Given the description of an element on the screen output the (x, y) to click on. 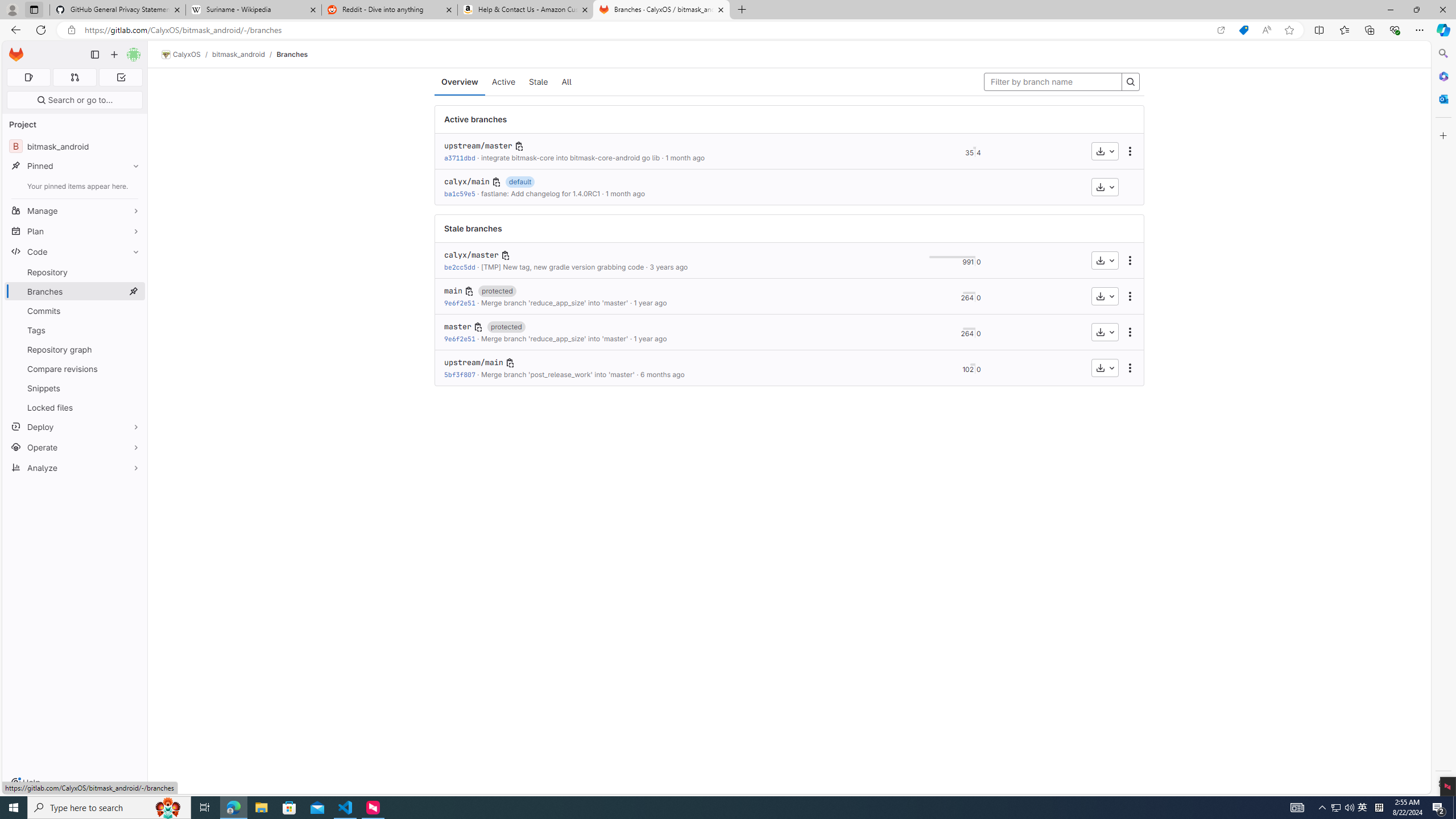
Merge branch 'reduce_app_size' into 'master' (554, 338)
Branches (292, 53)
Pin Locked files (132, 407)
Class: s16 gl-icon gl-button-icon  (510, 362)
Commits (74, 310)
Customize (1442, 135)
Compare revisions (74, 368)
Help & Contact Us - Amazon Customer Service (525, 9)
Search (1442, 53)
Operate (74, 447)
Merge branch 'post_release_work' into 'master' (557, 374)
